Given the description of an element on the screen output the (x, y) to click on. 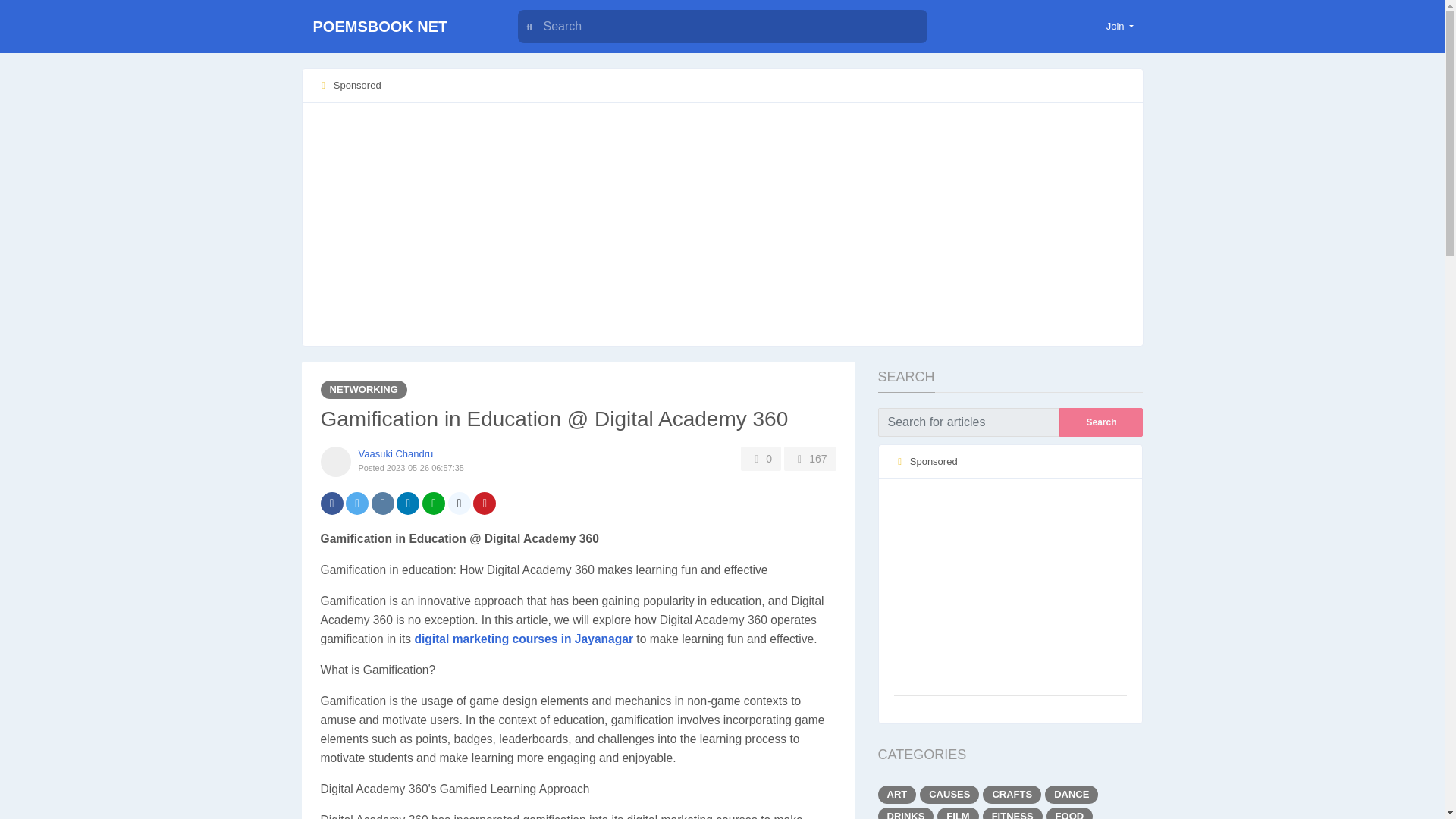
0 (760, 458)
Vaasuki Chandru (395, 453)
NETWORKING (363, 389)
Join (1119, 26)
POEMSBOOK NET (396, 26)
digital marketing courses in Jayanagar (523, 638)
